Given the description of an element on the screen output the (x, y) to click on. 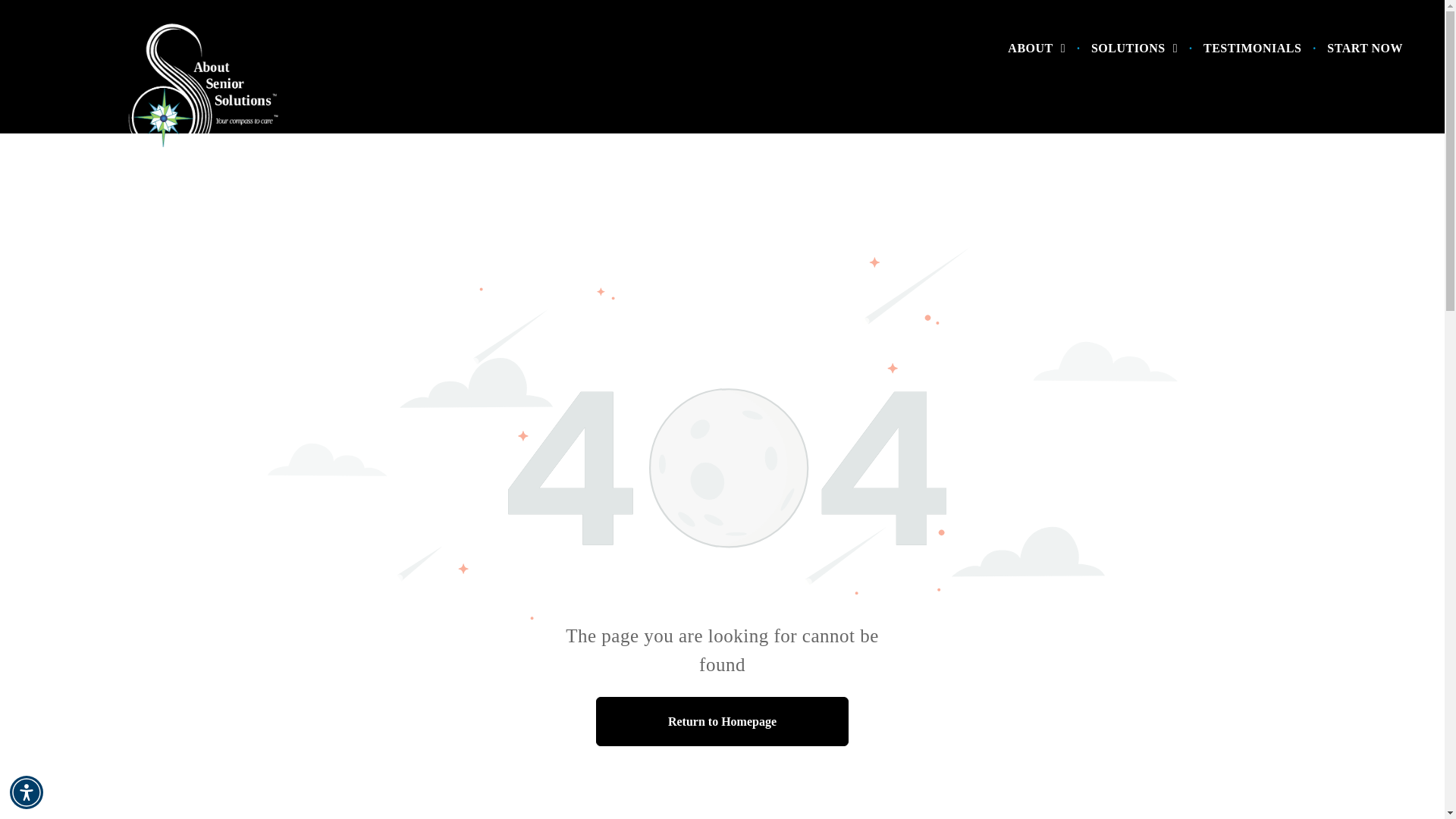
Return to Homepage (721, 721)
START NOW (1364, 48)
ABOUT (1036, 48)
SOLUTIONS (1134, 48)
Accessibility Menu (26, 792)
TESTIMONIALS (1252, 48)
